Given the description of an element on the screen output the (x, y) to click on. 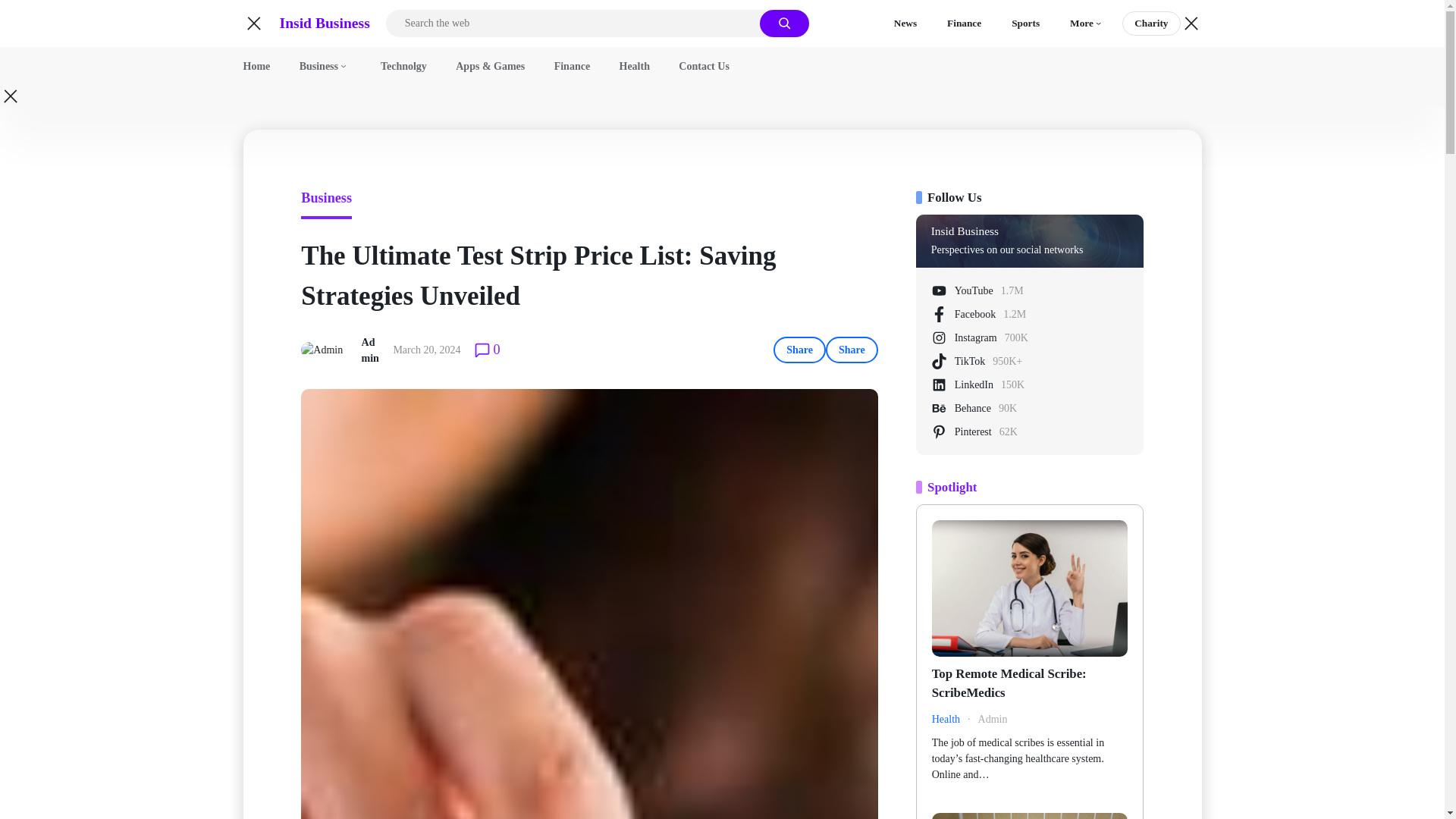
Finance (964, 23)
News (324, 23)
Sports (905, 23)
More (1025, 23)
